Given the description of an element on the screen output the (x, y) to click on. 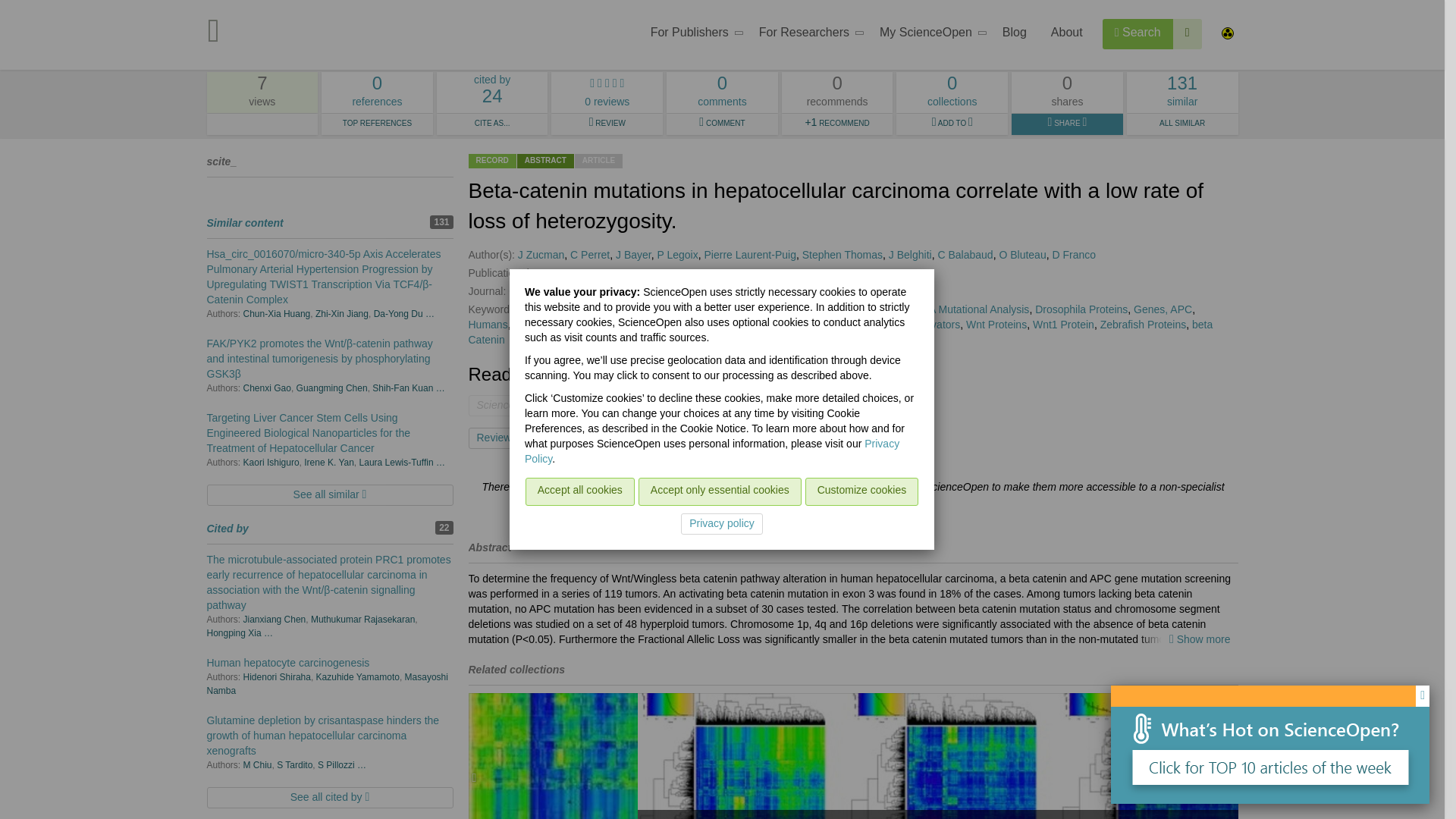
For Researchers (806, 34)
Advanced search (1187, 33)
My ScienceOpen (376, 92)
Search (928, 34)
Bookmark (1137, 33)
For Publishers (569, 437)
